Given the description of an element on the screen output the (x, y) to click on. 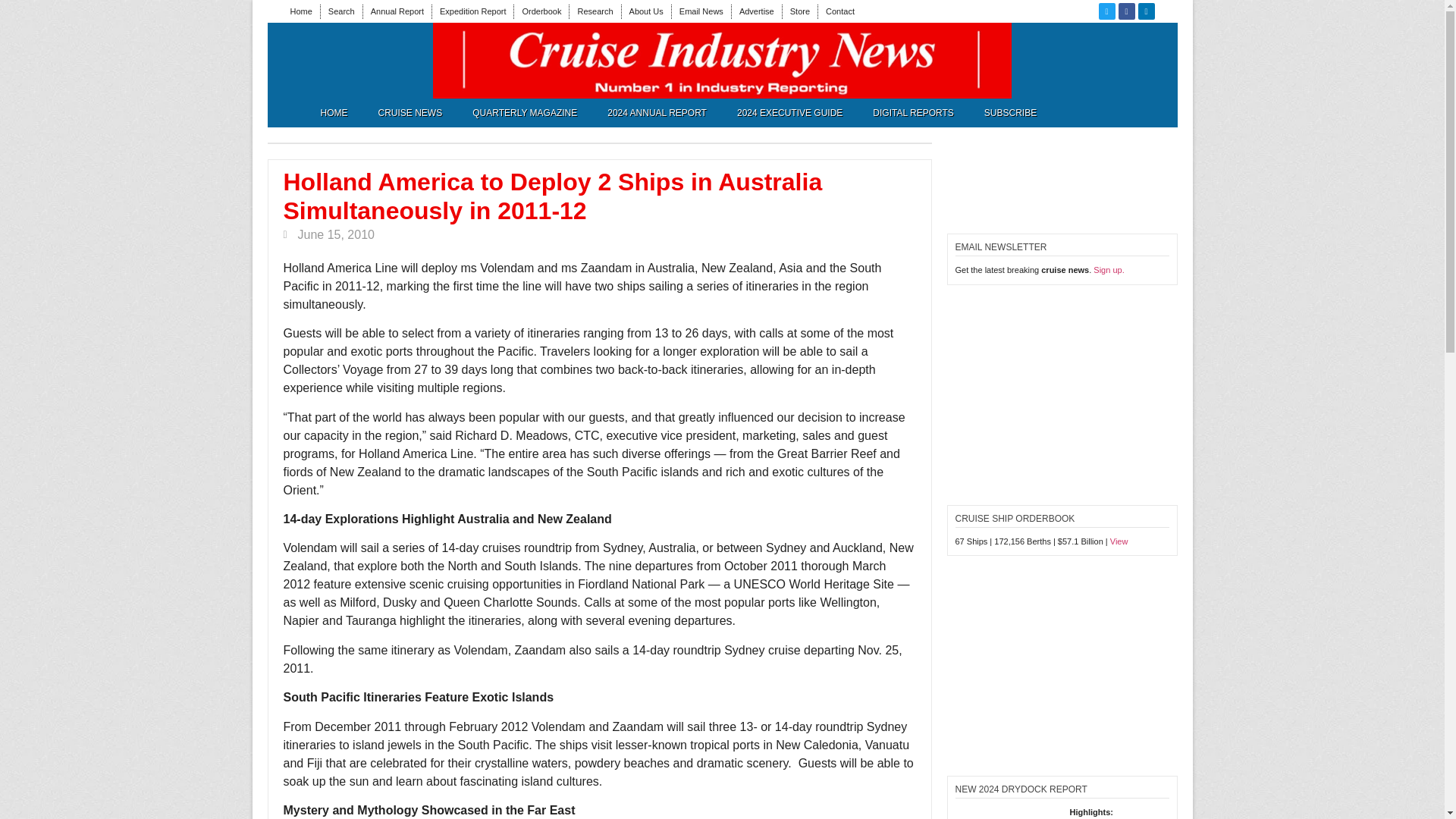
Home (300, 11)
Email News (701, 11)
Annual Report (397, 11)
Advertise (756, 11)
Contact (839, 11)
About Us (645, 11)
QUARTERLY MAGAZINE (524, 112)
Search (342, 11)
Store (799, 11)
Expedition Report (472, 11)
